Given the description of an element on the screen output the (x, y) to click on. 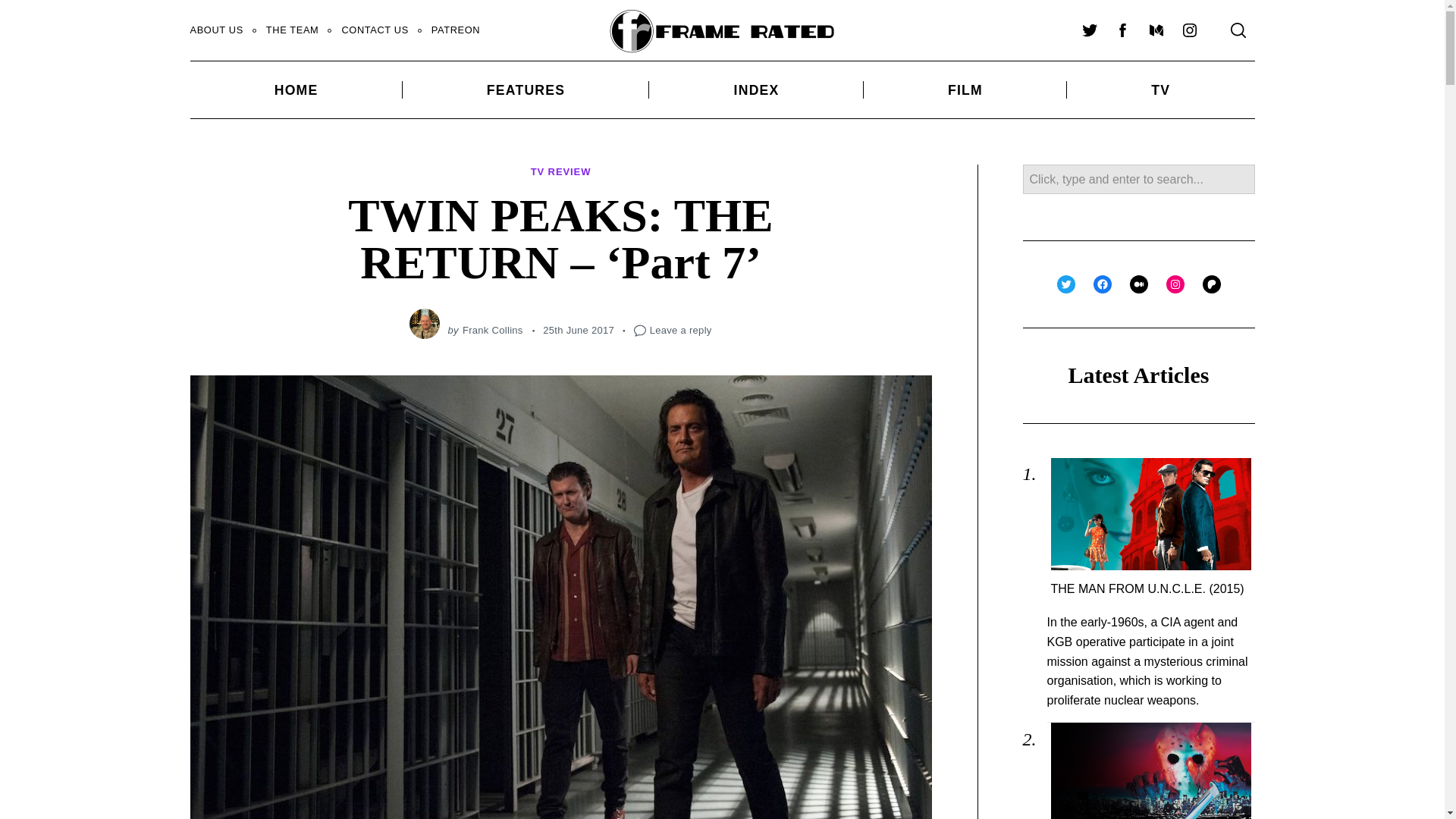
FEATURES (526, 89)
TV (1160, 89)
Facebook (1121, 29)
Twitter (1088, 29)
Instagram (1188, 29)
FILM (965, 89)
HOME (295, 89)
Medium (1155, 29)
CONTACT US (374, 30)
INDEX (756, 89)
THE TEAM (292, 30)
PATREON (456, 30)
